Given the description of an element on the screen output the (x, y) to click on. 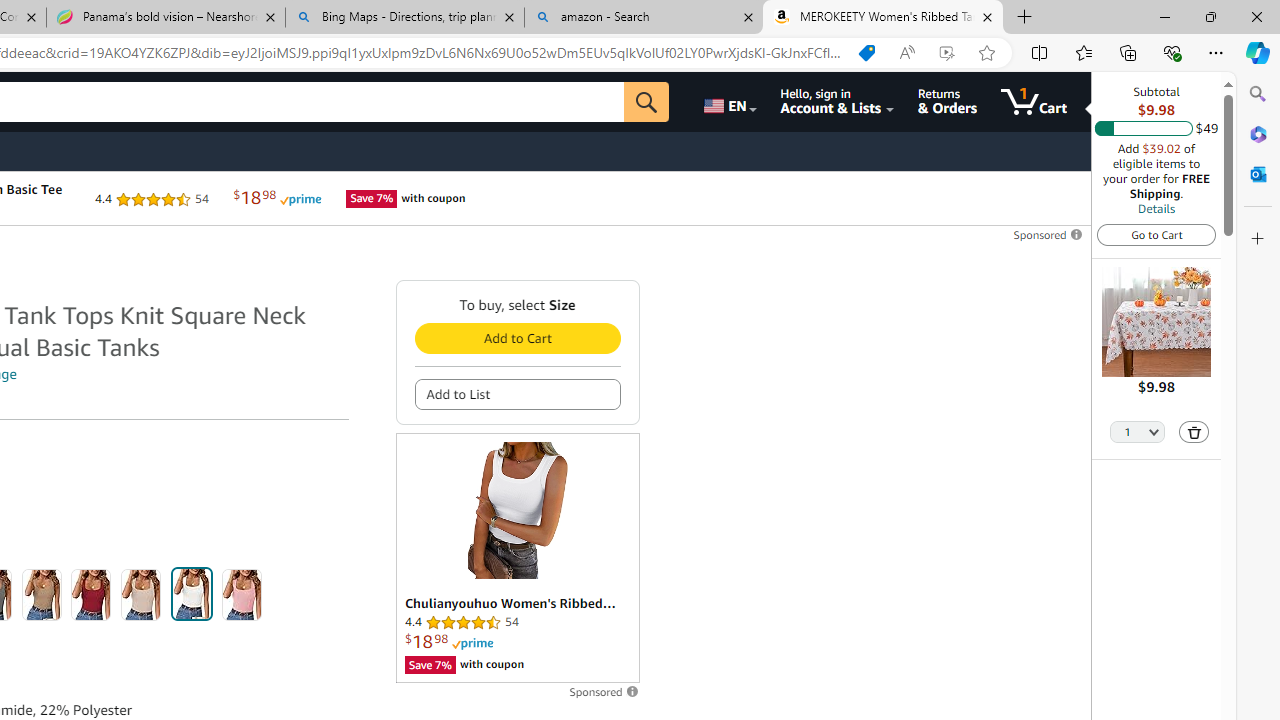
Choose a language for shopping. (728, 101)
White (191, 593)
Quantity Selector (1137, 433)
Sponsored ad (516, 557)
Red (91, 594)
Delete (1193, 431)
Enhance video (946, 53)
